Given the description of an element on the screen output the (x, y) to click on. 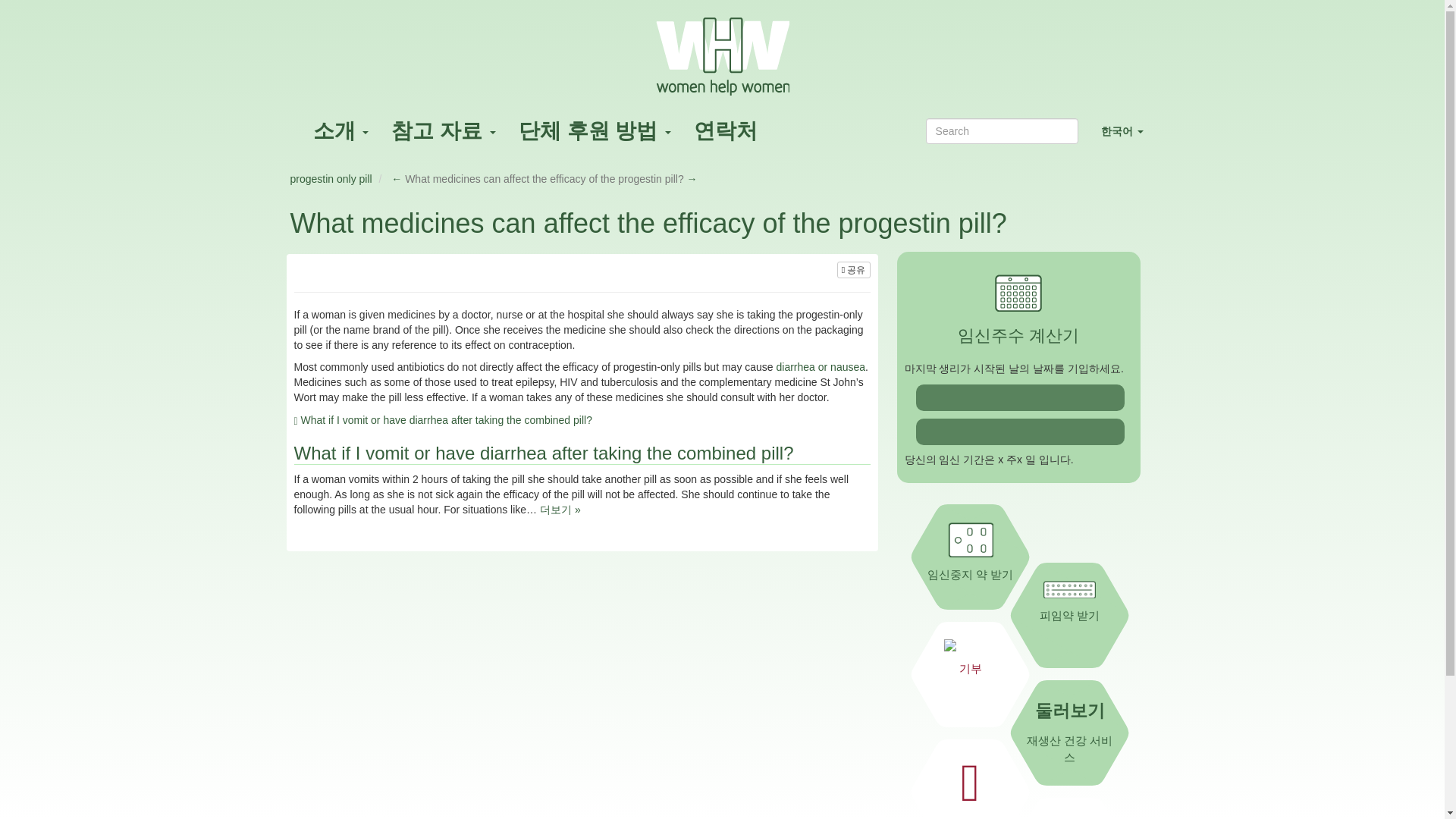
progestin only pill (330, 178)
Share this page (853, 269)
